Given the description of an element on the screen output the (x, y) to click on. 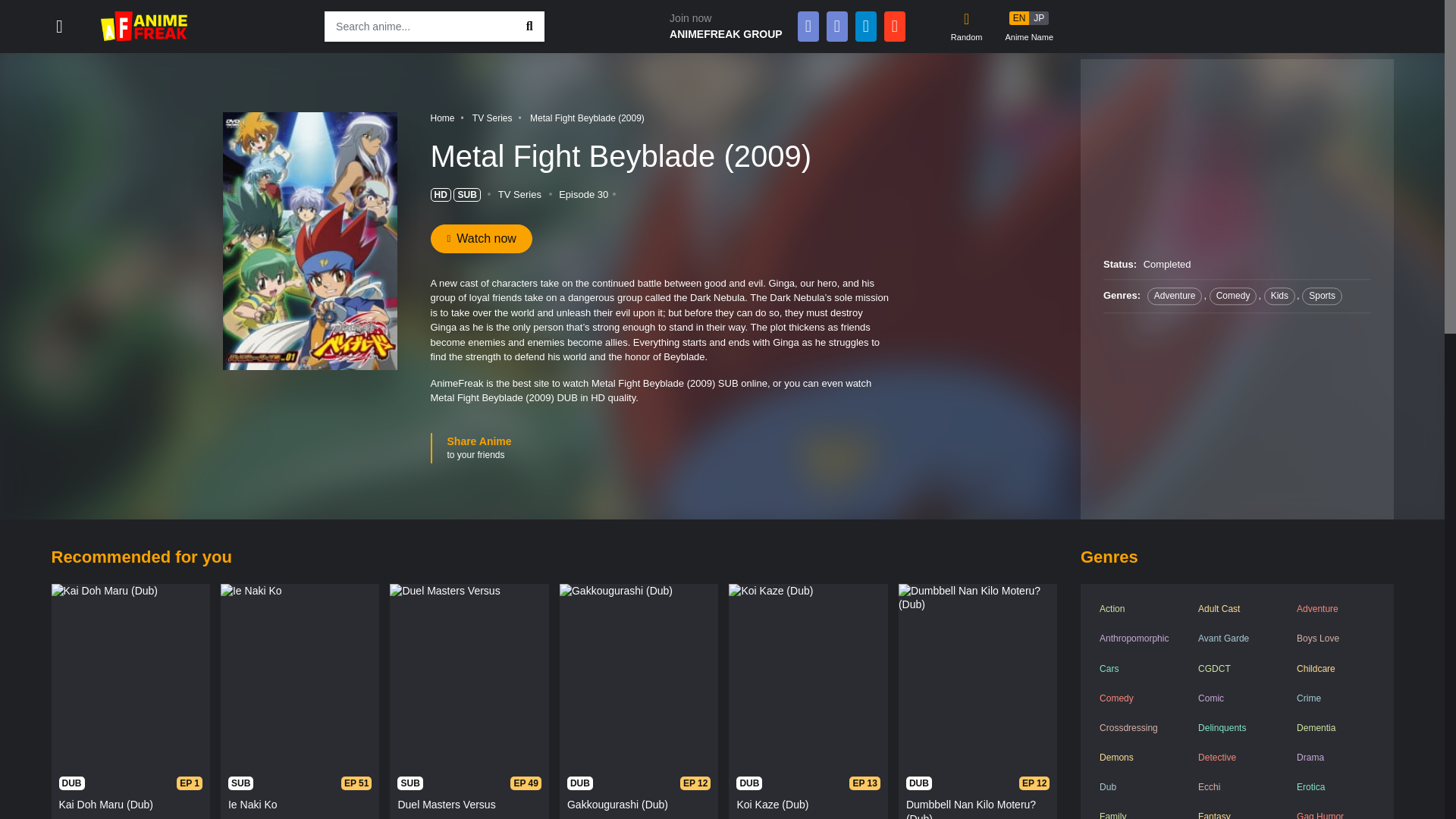
Select language of anime name to display. (1028, 26)
